Given the description of an element on the screen output the (x, y) to click on. 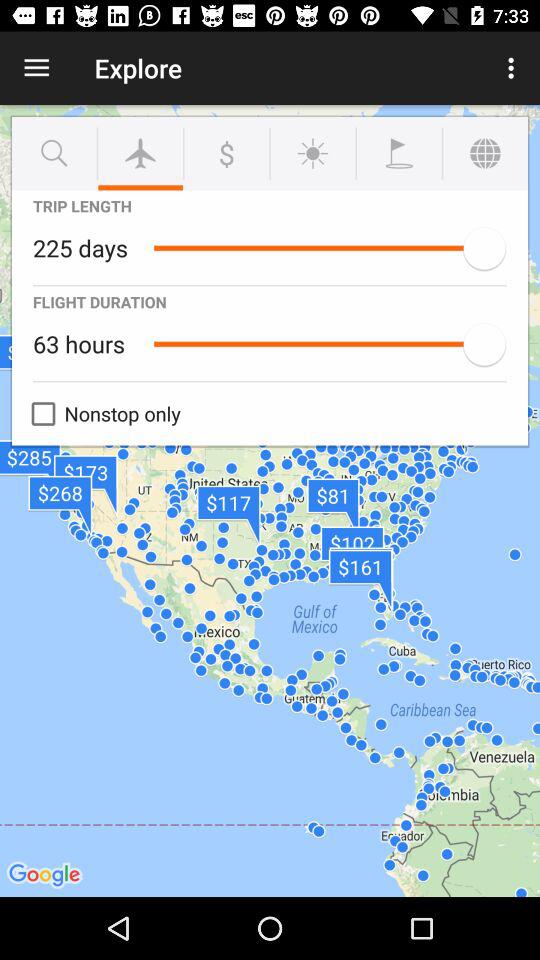
turn off the nonstop only icon (101, 414)
